Given the description of an element on the screen output the (x, y) to click on. 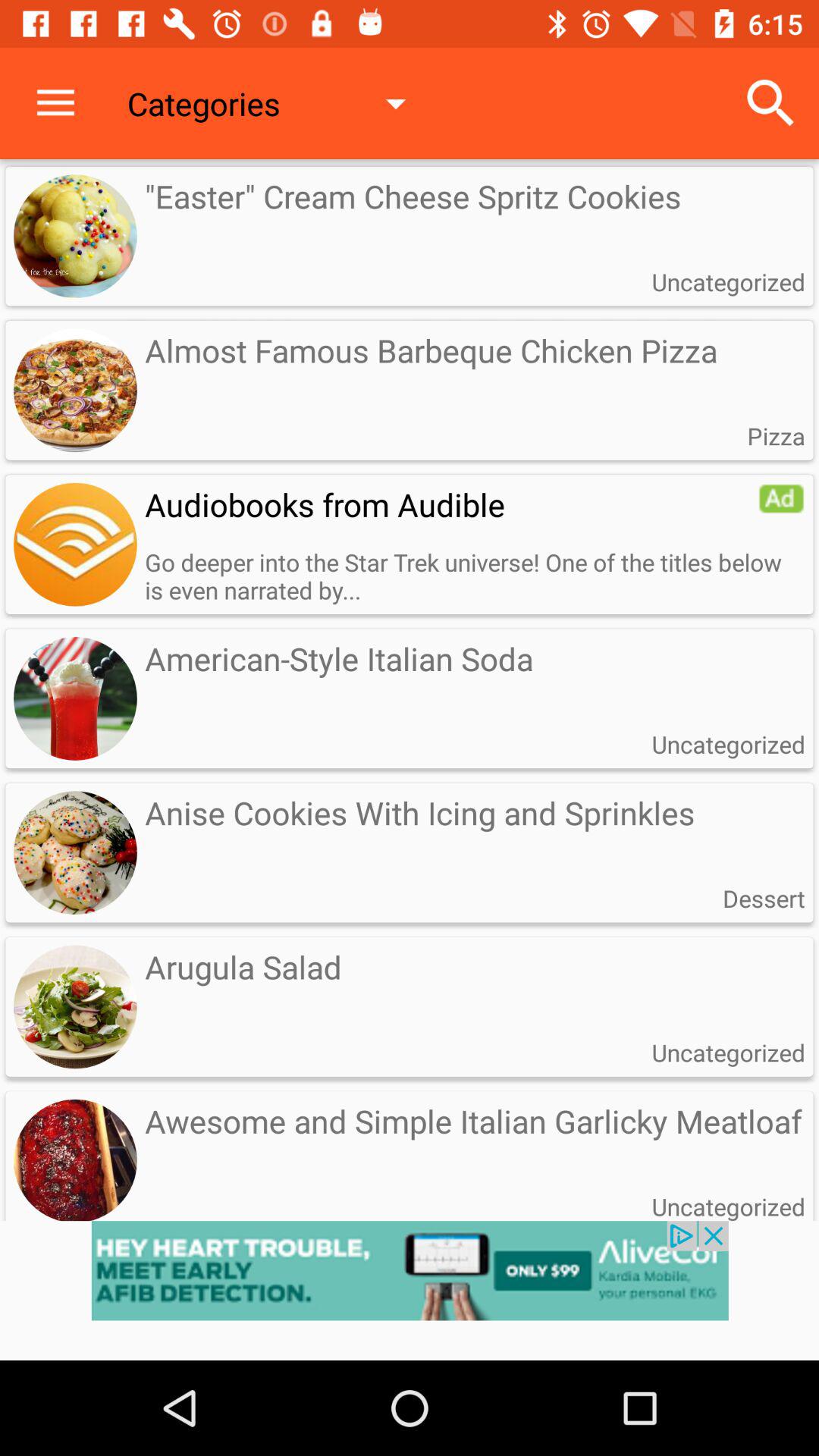
advertisement (781, 498)
